Given the description of an element on the screen output the (x, y) to click on. 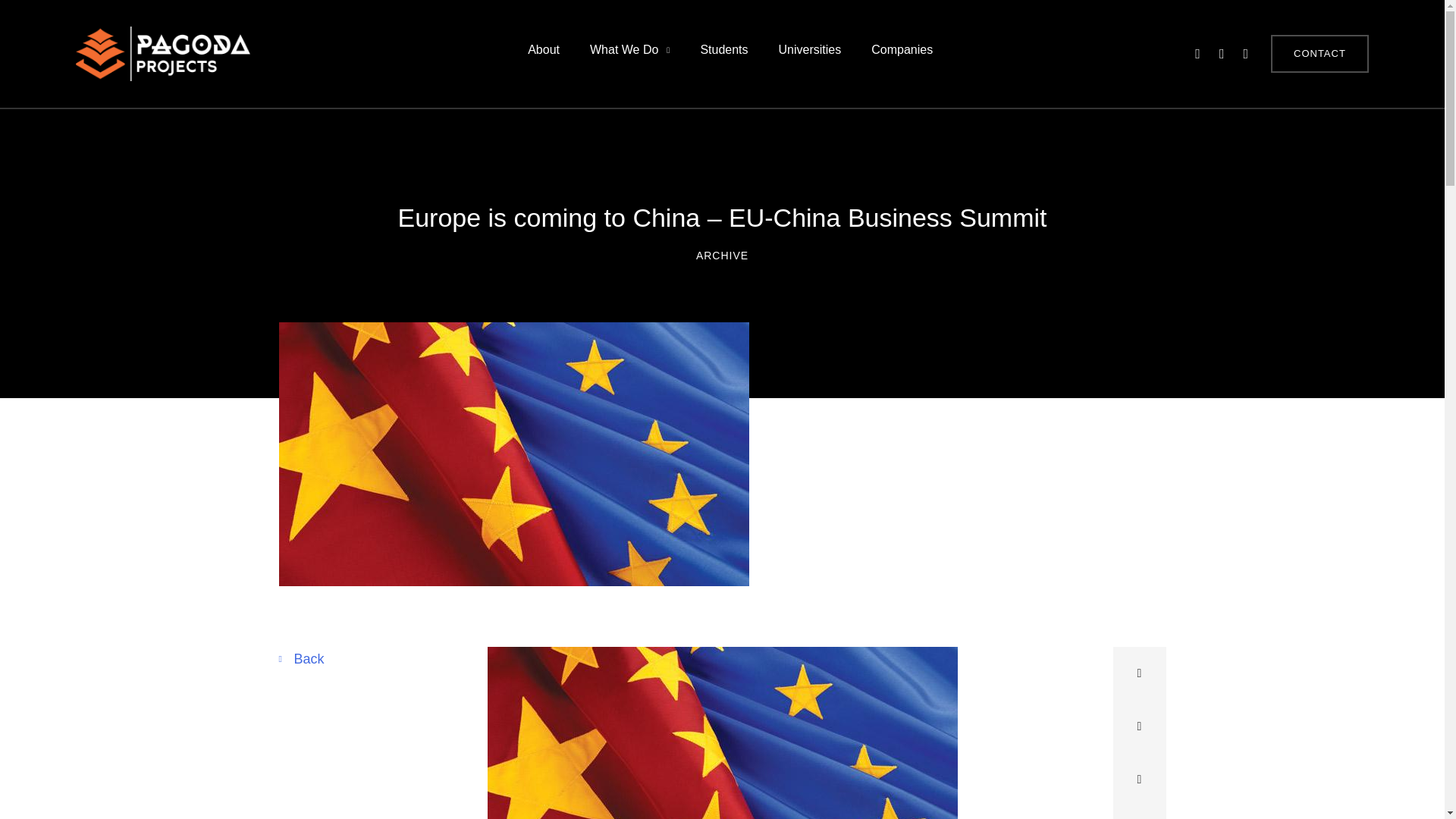
Students (723, 54)
CONTACT (1319, 53)
Companies (901, 54)
Universities (809, 54)
What We Do (629, 54)
About (543, 54)
ARCHIVE (721, 255)
Back (301, 658)
